Given the description of an element on the screen output the (x, y) to click on. 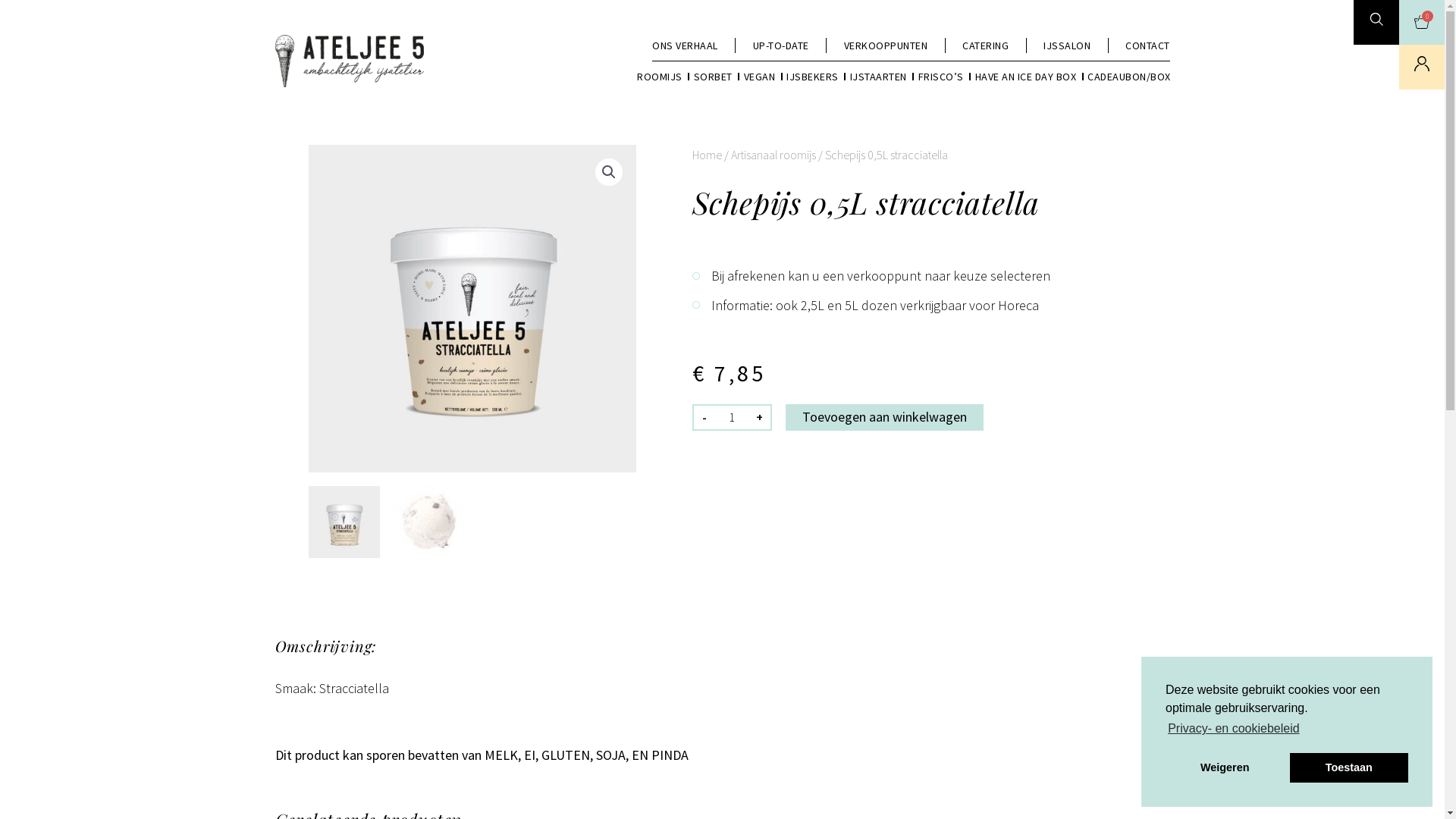
VEGAN Element type: text (759, 76)
ROOMIJS Element type: text (659, 76)
CADEAUBON/BOX Element type: text (1128, 76)
Weigeren Element type: text (1224, 767)
CONTACT Element type: text (1147, 45)
0 Element type: text (1421, 21)
ONS VERHAAL Element type: text (685, 45)
Privacy- en cookiebeleid Element type: text (1233, 728)
SORBET Element type: text (712, 76)
HAVE AN ICE DAY BOX Element type: text (1025, 76)
Qty Element type: hover (731, 417)
IJSSALON Element type: text (1066, 45)
IJSTAARTEN Element type: text (877, 76)
+ Element type: text (760, 417)
VERKOOPPUNTEN Element type: text (885, 45)
Home Element type: text (706, 154)
Toevoegen aan winkelwagen Element type: text (884, 417)
Toestaan Element type: text (1348, 767)
CATERING Element type: text (985, 45)
Stracciatella 1_2 Element type: hover (471, 308)
UP-TO-DATE Element type: text (780, 45)
IJSBEKERS Element type: text (812, 76)
Artisanaal roomijs Element type: text (773, 154)
- Element type: text (702, 417)
